Given the description of an element on the screen output the (x, y) to click on. 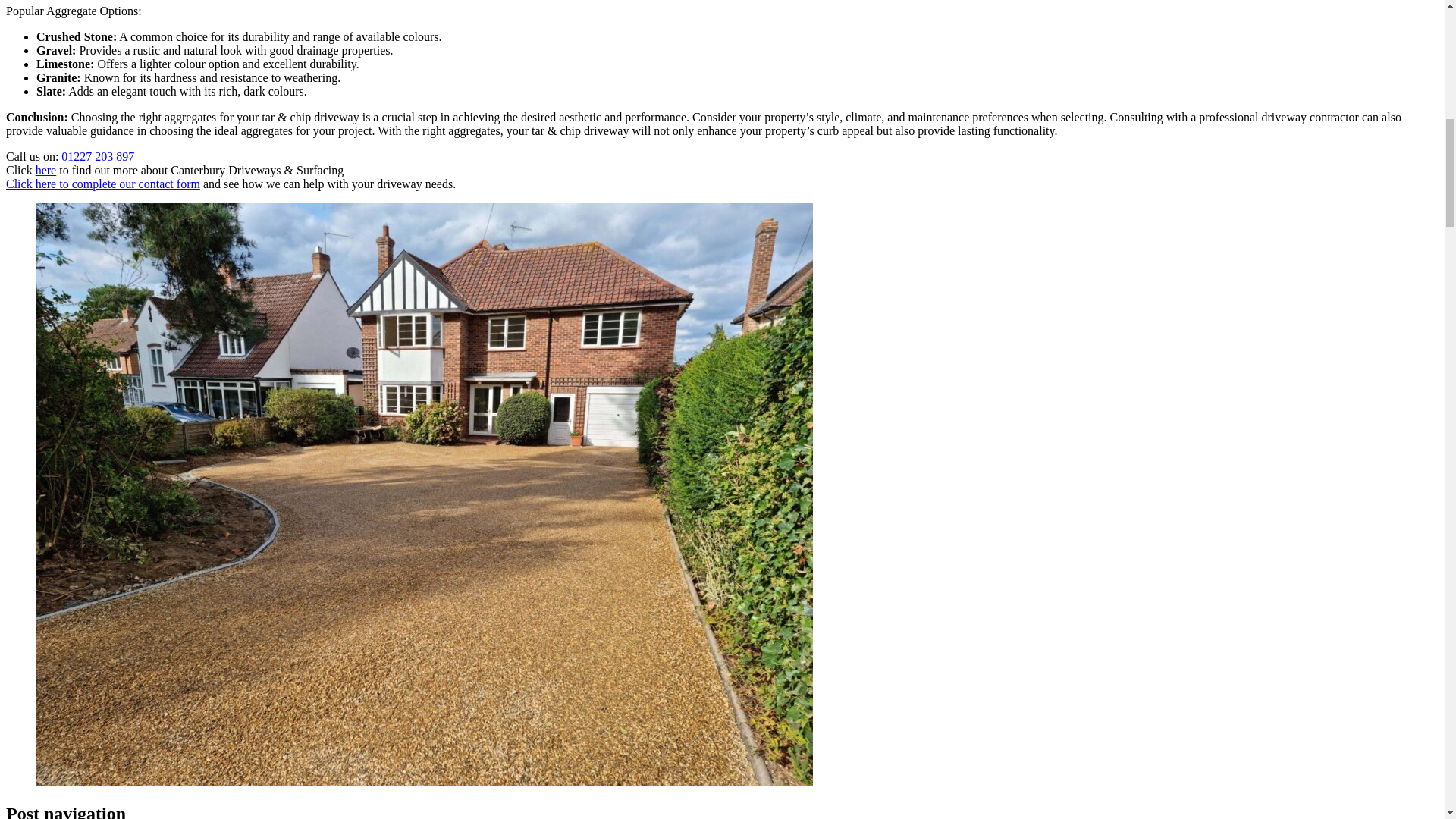
01227 203 897 (97, 155)
Click here to complete our contact form (102, 183)
here (45, 169)
